Given the description of an element on the screen output the (x, y) to click on. 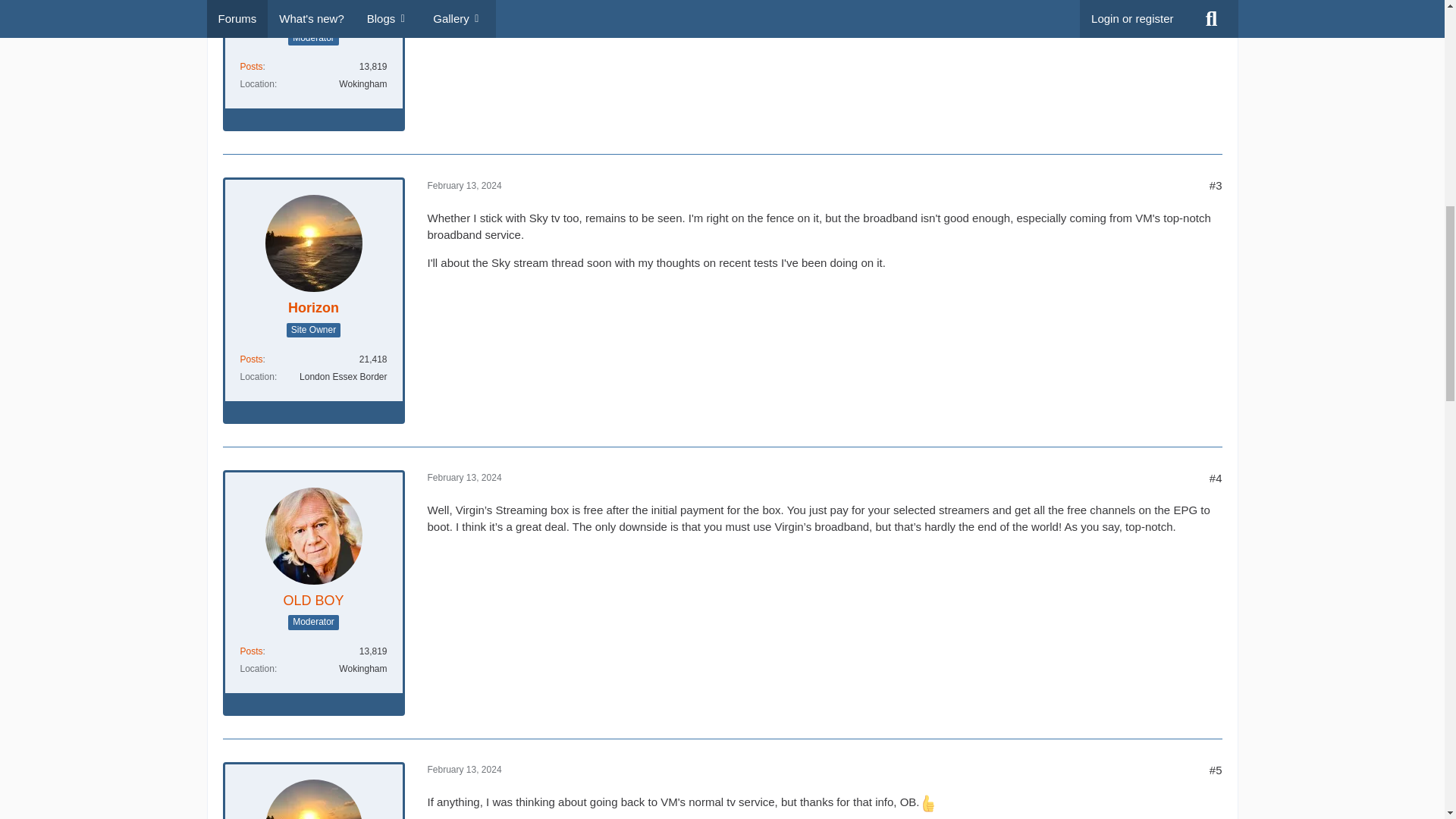
OLD BOY (312, 16)
Posts (251, 358)
thumbup (928, 803)
Posts (251, 66)
February 13, 2024February 13, 2024 at 7:53 PM (465, 185)
Horizon (313, 307)
OLD BOY (312, 600)
